Given the description of an element on the screen output the (x, y) to click on. 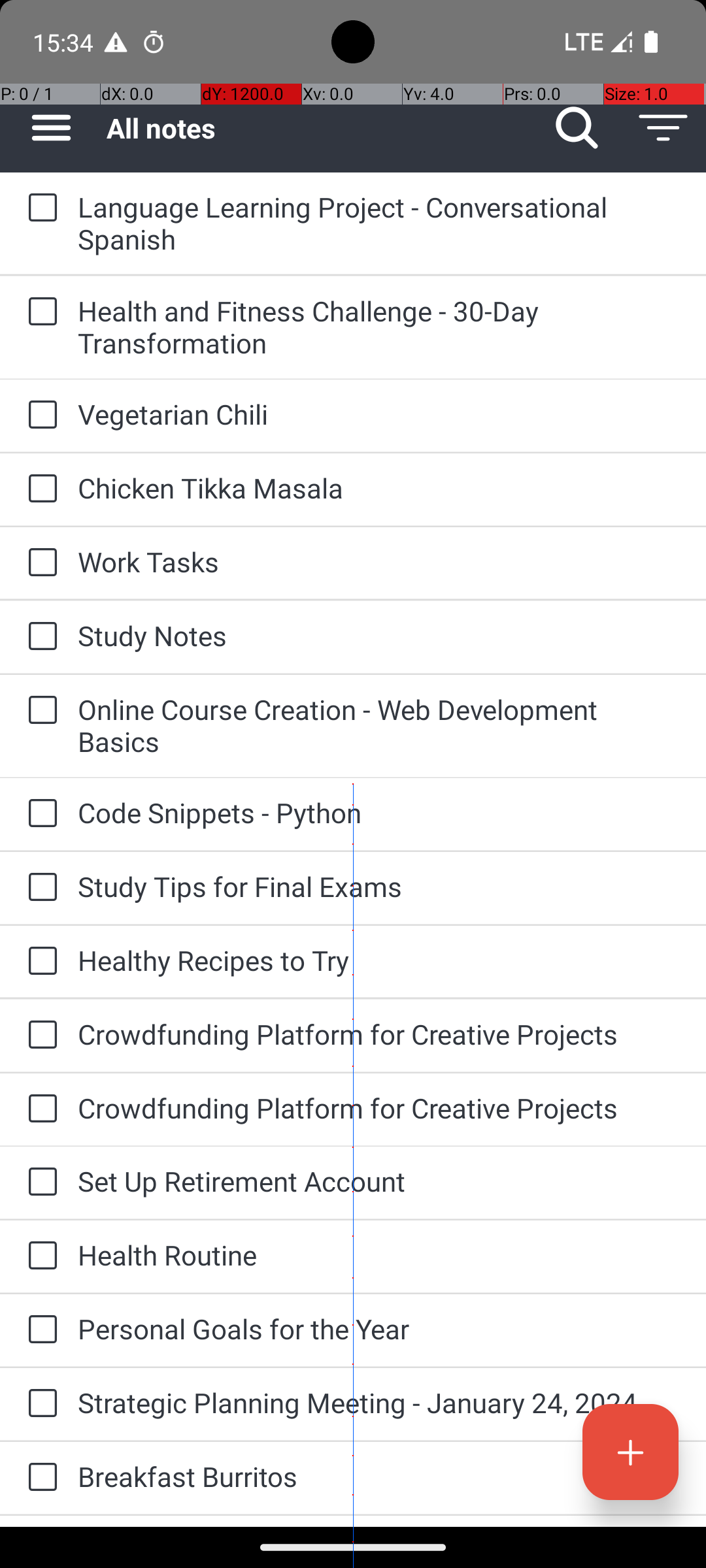
There are currently no notes. Create one by clicking on the (+) button. Element type: android.widget.TextView (353, 232)
